Given the description of an element on the screen output the (x, y) to click on. 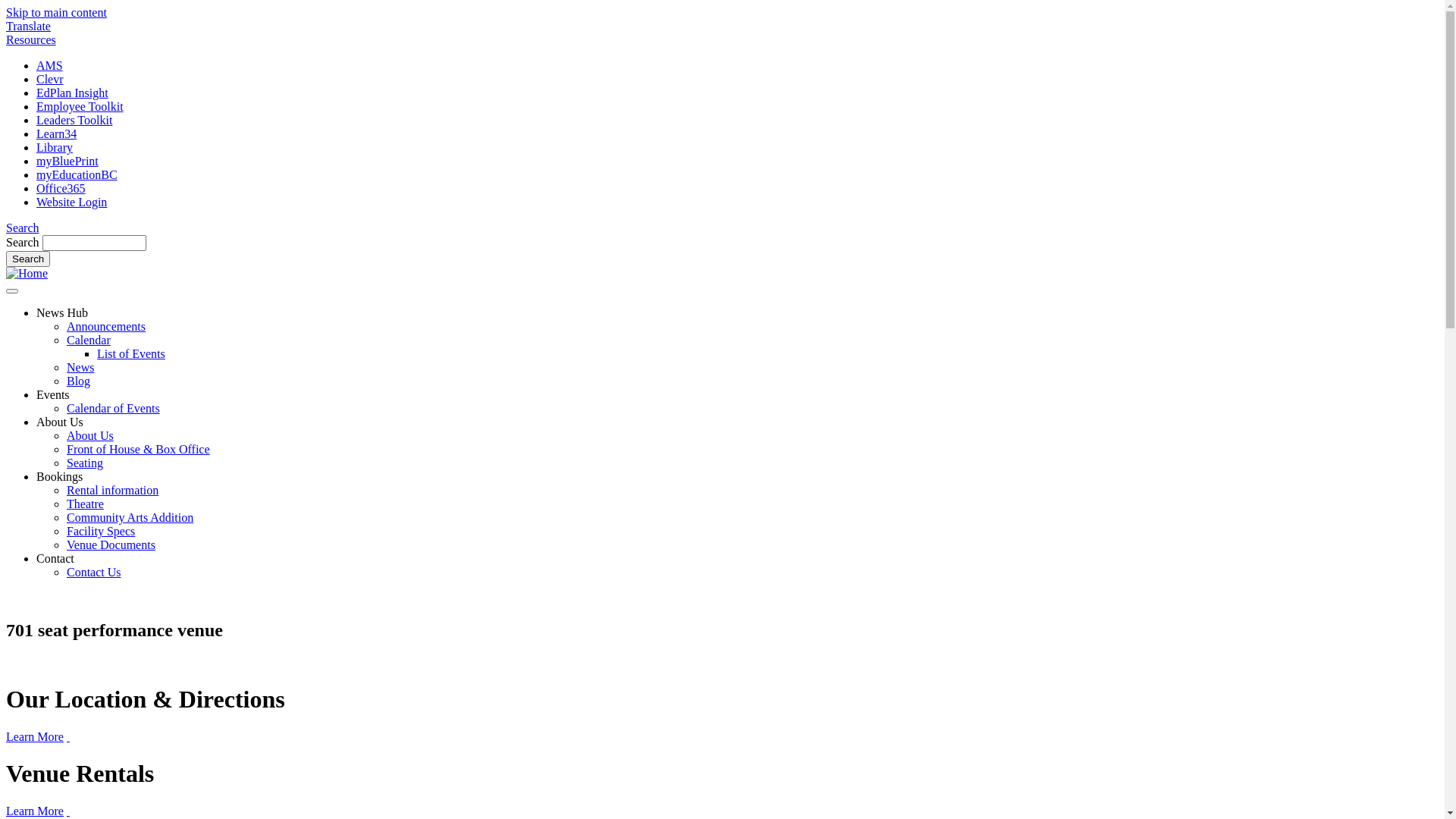
Leaders Toolkit Element type: text (74, 119)
Calendar of Events Element type: text (113, 407)
Front of House & Box Office Element type: text (138, 448)
About Us Element type: text (89, 435)
News Element type: text (80, 366)
Library Element type: text (54, 147)
Search Element type: text (22, 227)
List of Events Element type: text (131, 353)
myEducationBC Element type: text (76, 174)
Learn More Element type: text (34, 736)
  Element type: text (67, 736)
Enter the terms you wish to search for. Element type: hover (94, 243)
Website Login Element type: text (71, 201)
Community Arts Addition Element type: text (129, 517)
Home Element type: hover (26, 272)
Resources Element type: text (31, 39)
Theatre Element type: text (84, 503)
Venue Documents Element type: text (110, 544)
Calendar Element type: text (88, 339)
Seating Element type: text (84, 462)
myBluePrint Element type: text (67, 160)
Rental information Element type: text (112, 489)
Learn More Element type: text (34, 810)
Blog Element type: text (78, 380)
Translate Element type: text (28, 25)
Contact Us Element type: text (93, 571)
Office365 Element type: text (60, 188)
Skip to main content Element type: text (56, 12)
Employee Toolkit Element type: text (79, 106)
Clevr Element type: text (49, 78)
AMS Element type: text (49, 65)
  Element type: text (67, 810)
EdPlan Insight Element type: text (72, 92)
Facility Specs Element type: text (100, 530)
Learn34 Element type: text (56, 133)
Search Element type: text (28, 258)
Announcements Element type: text (105, 326)
